Given the description of an element on the screen output the (x, y) to click on. 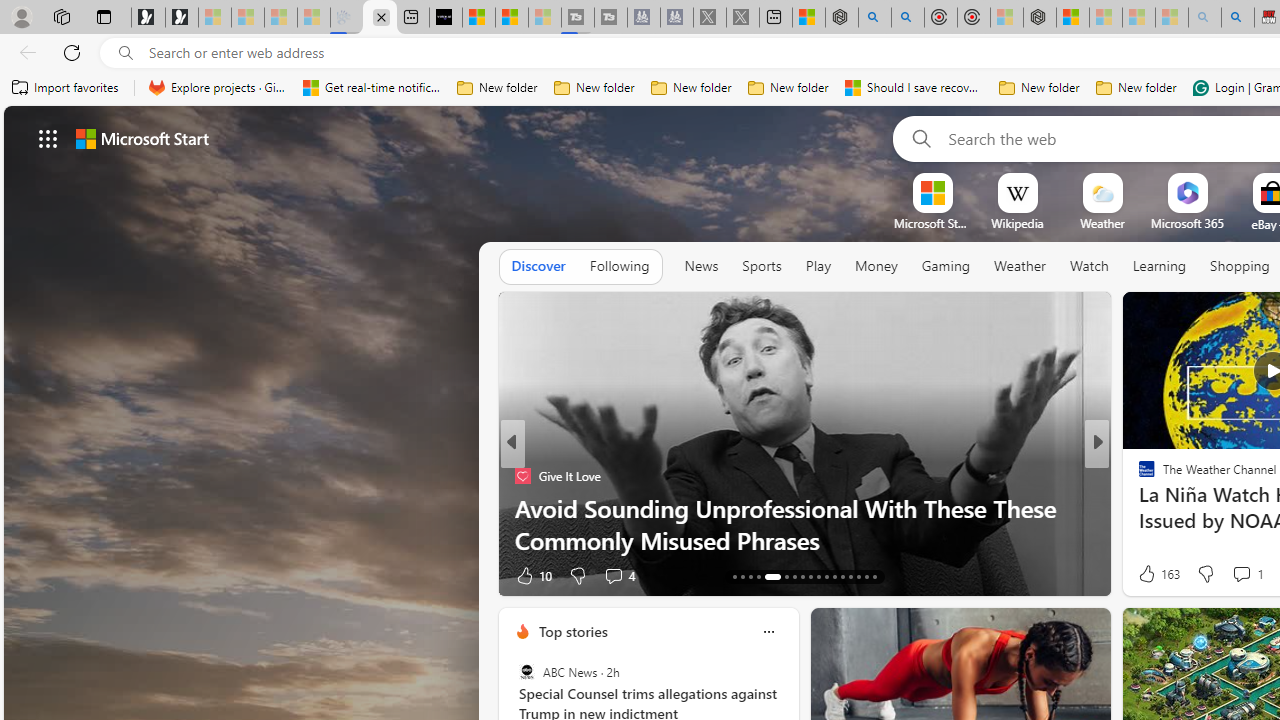
View comments 1 Comment (1241, 573)
Import favorites (65, 88)
poe - Search (874, 17)
Wikipedia (1017, 223)
Microsoft start (142, 138)
AutomationID: tab-15 (750, 576)
AutomationID: tab-23 (825, 576)
14 Like (1149, 574)
View comments 5 Comment (1229, 575)
AutomationID: tab-53 (874, 576)
AutomationID: tab-50 (850, 576)
